Given the description of an element on the screen output the (x, y) to click on. 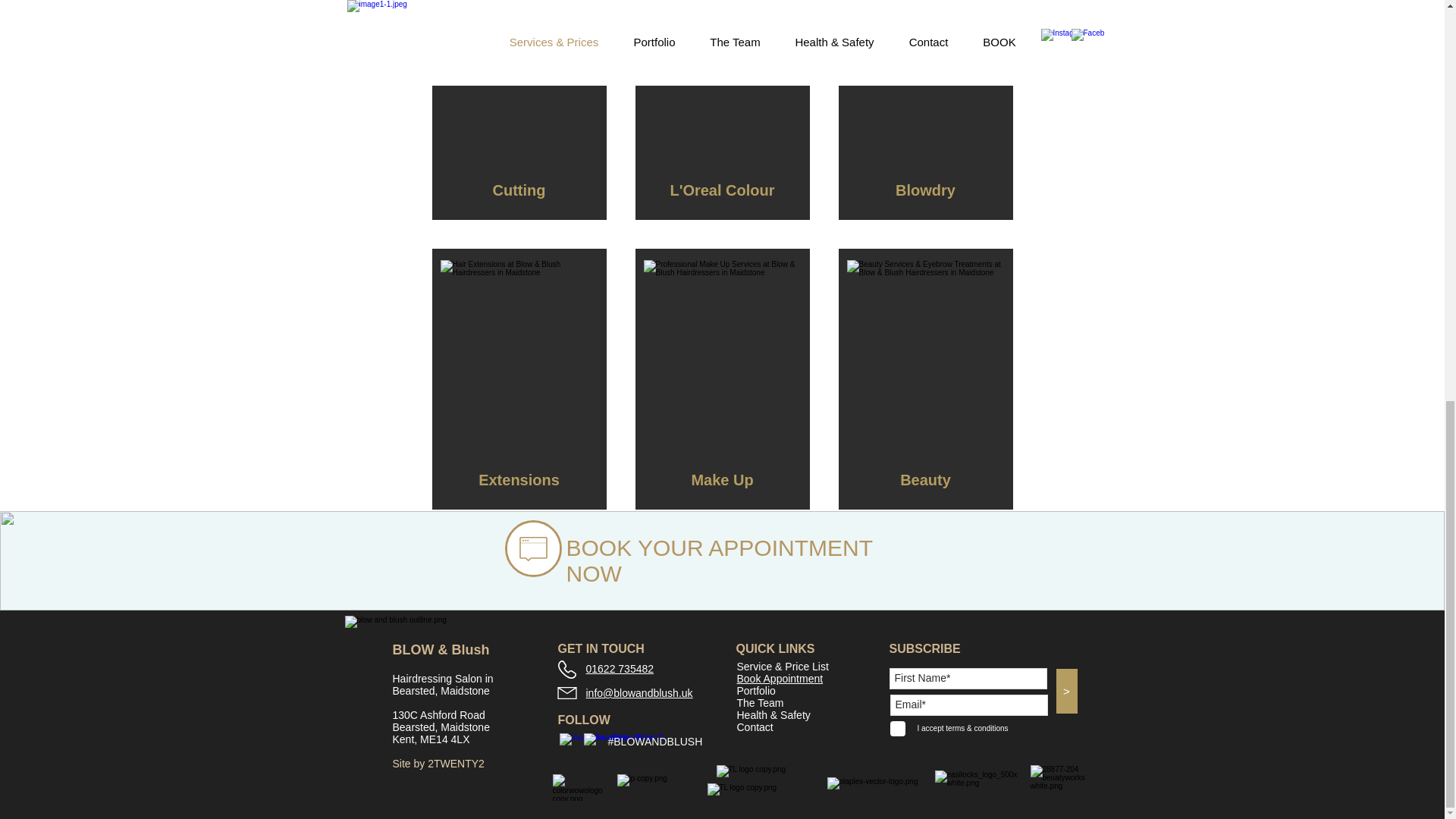
Contact (754, 727)
01622 735482 (619, 668)
2TWENTY2 (456, 763)
Book Appointment (780, 678)
The Team (760, 702)
Portfolio (756, 690)
BOOK YOUR APPOINTMENT NOW  (719, 560)
